Given the description of an element on the screen output the (x, y) to click on. 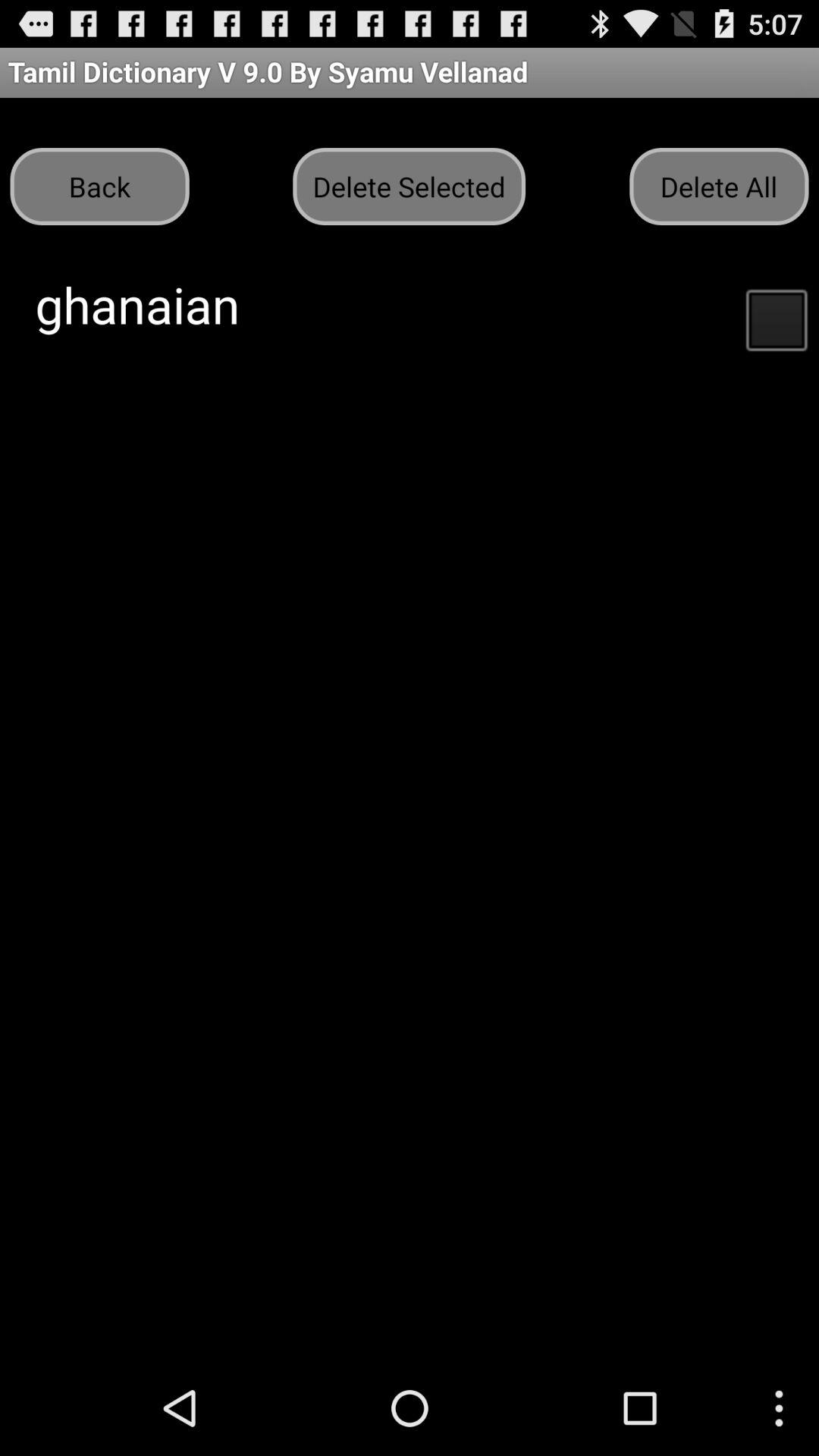
select option (775, 318)
